Given the description of an element on the screen output the (x, y) to click on. 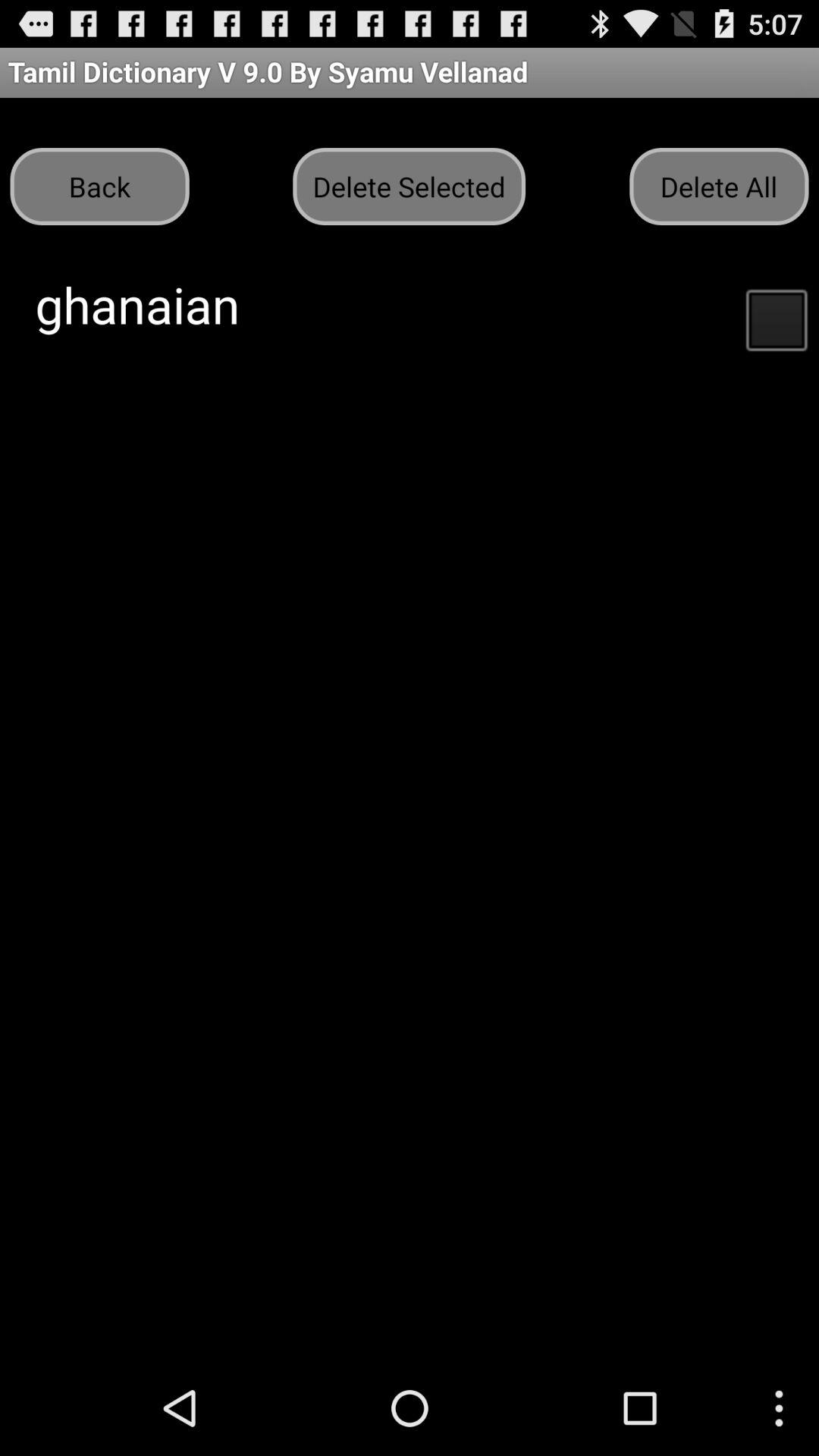
select option (775, 318)
